Given the description of an element on the screen output the (x, y) to click on. 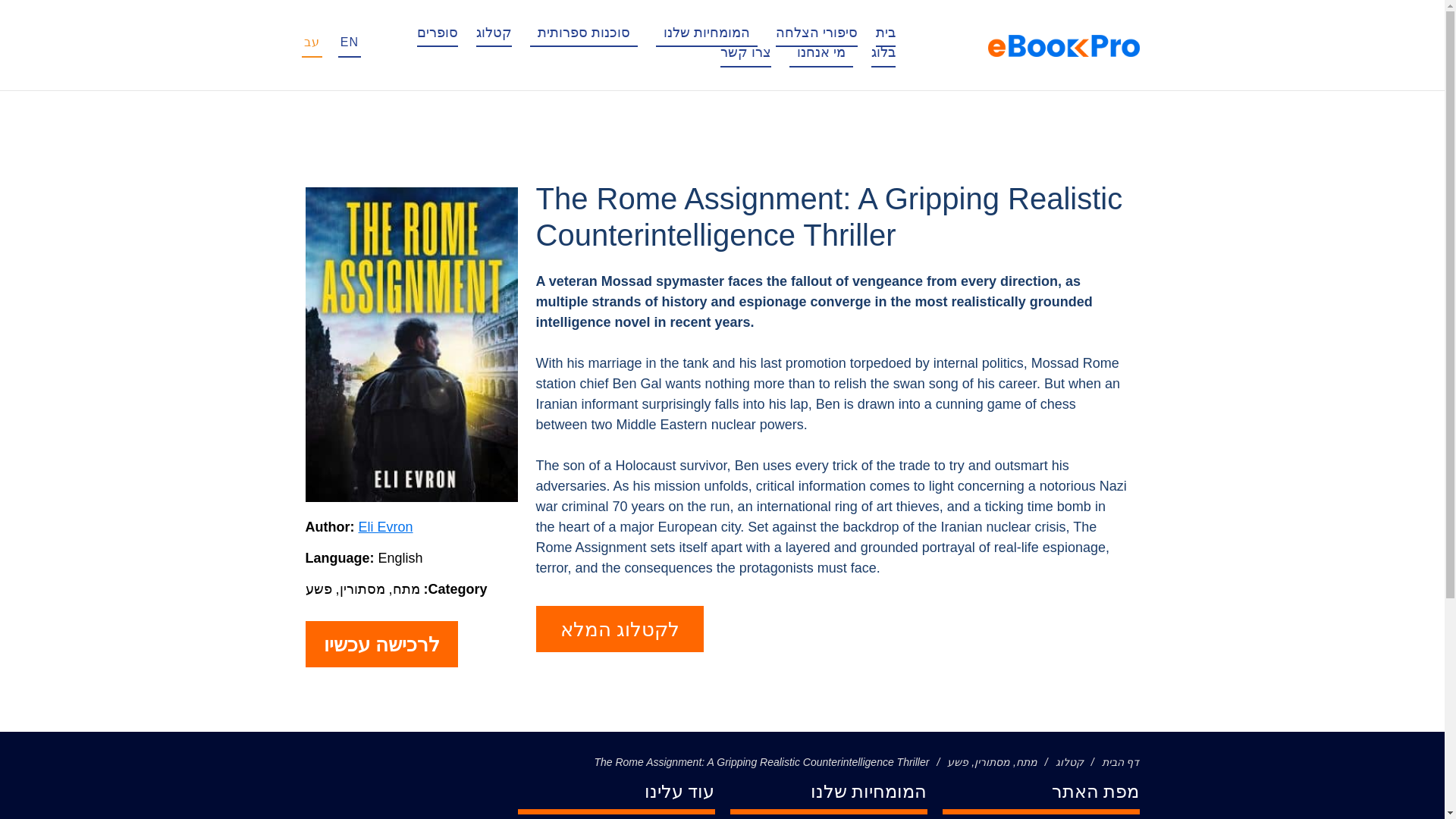
Eli Evron (385, 526)
EN (349, 42)
